Given the description of an element on the screen output the (x, y) to click on. 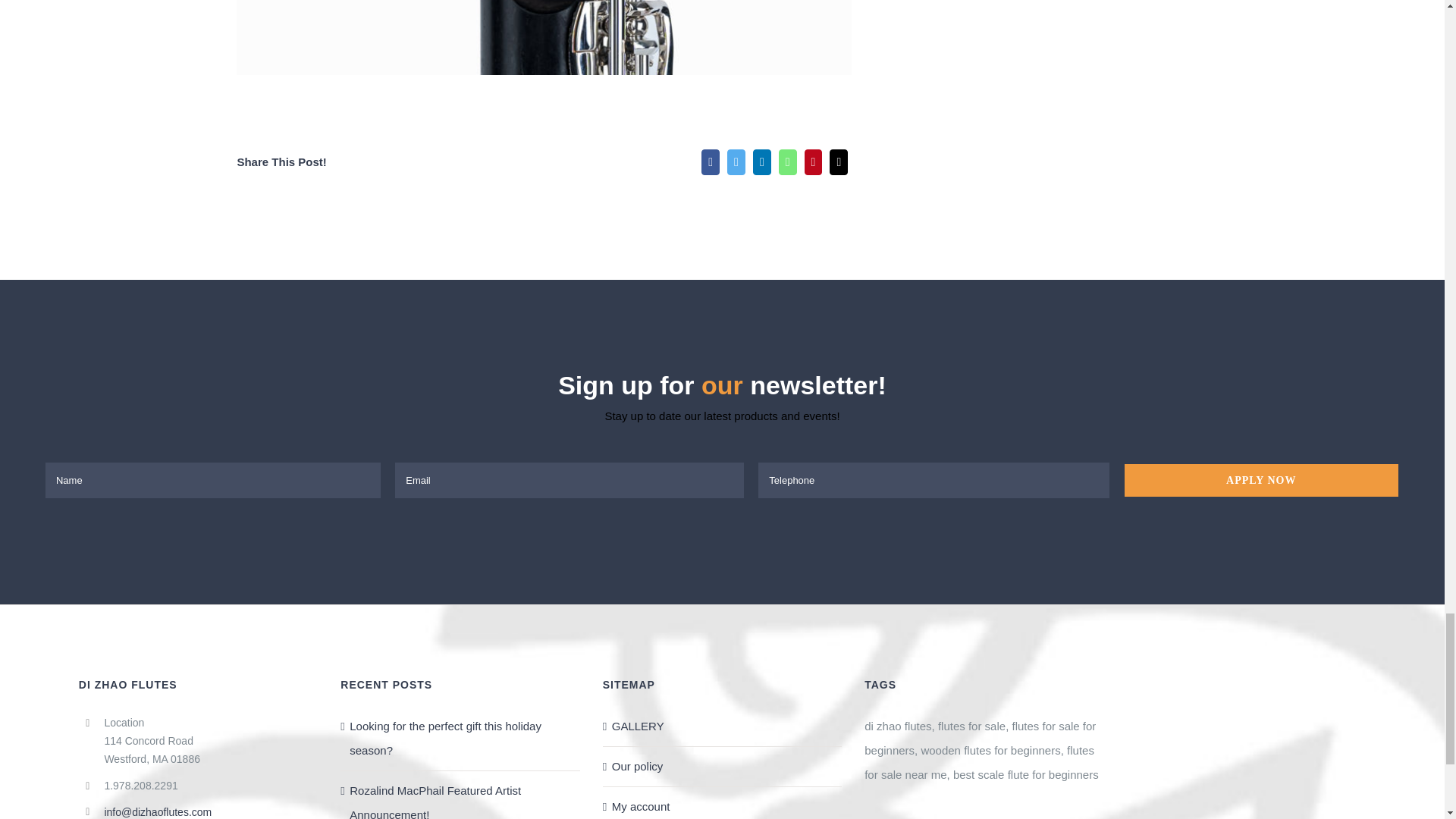
APPLY NOW (722, 479)
